Given the description of an element on the screen output the (x, y) to click on. 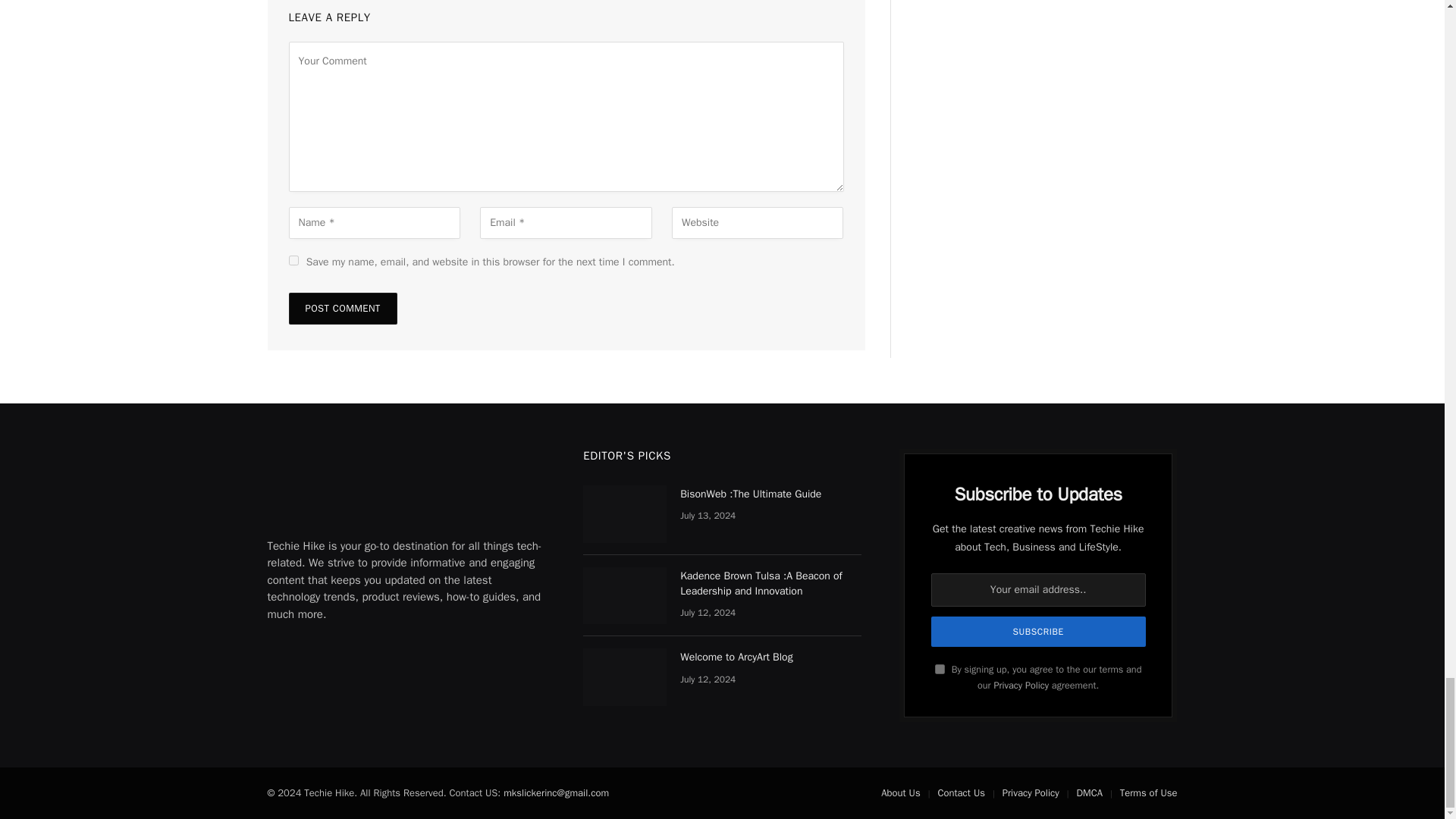
Post Comment (342, 308)
BisonWeb :The Ultimate Guide (624, 513)
on (939, 669)
yes (293, 260)
Post Comment (342, 308)
Subscribe (1038, 631)
